Given the description of an element on the screen output the (x, y) to click on. 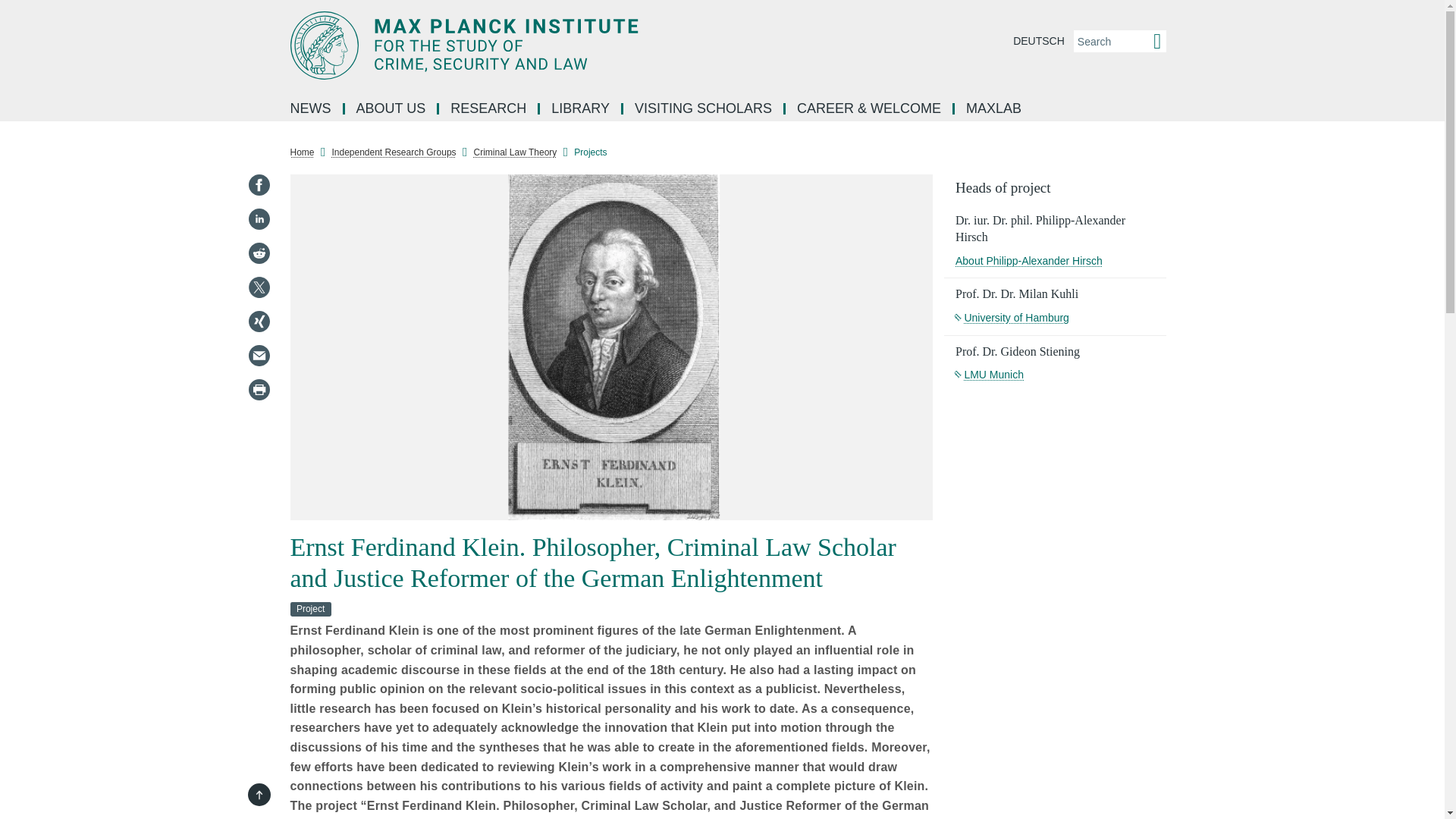
NEWS (312, 108)
Twitter (258, 287)
Xing (258, 321)
ABOUT US (391, 108)
DEUTSCH (1038, 41)
LinkedIn (258, 219)
Facebook (258, 184)
Reddit (258, 252)
LMU Munich (989, 374)
E-Mail (258, 354)
Print (258, 389)
University of Hamburg (1011, 317)
RESEARCH (489, 108)
